Given the description of an element on the screen output the (x, y) to click on. 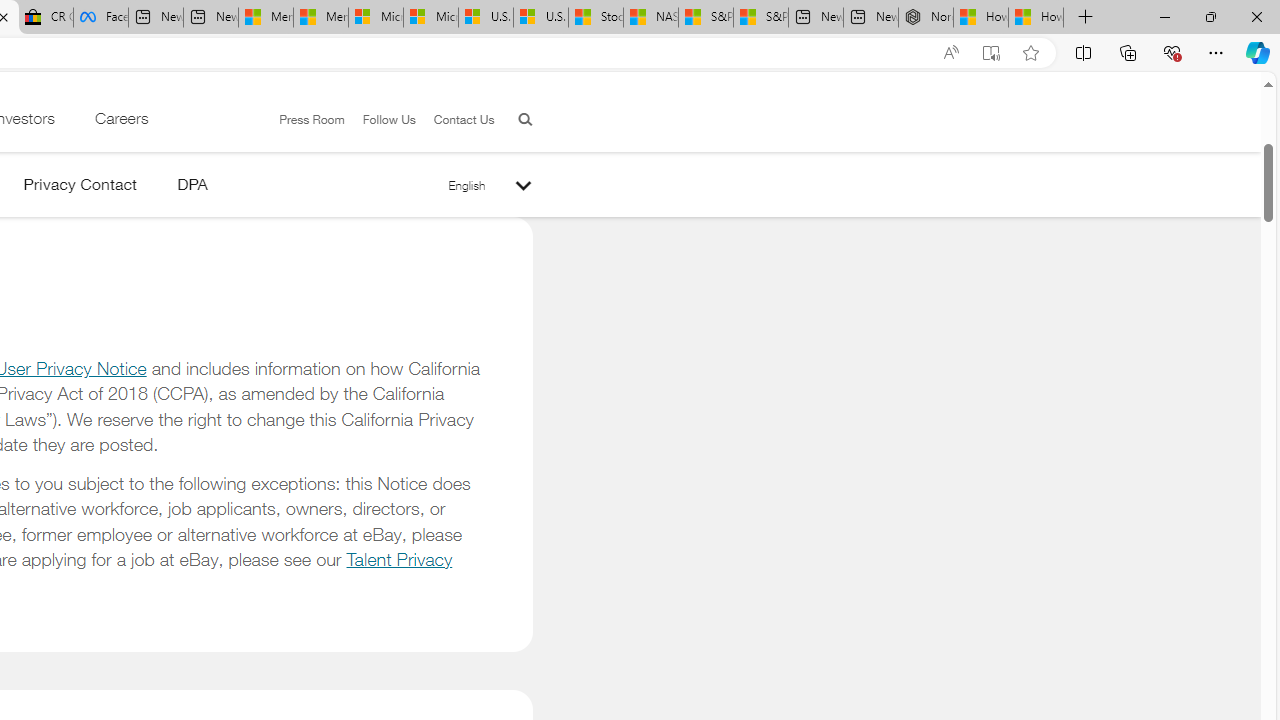
Privacy Contact (80, 188)
Enter Immersive Reader (F9) (991, 53)
